Given the description of an element on the screen output the (x, y) to click on. 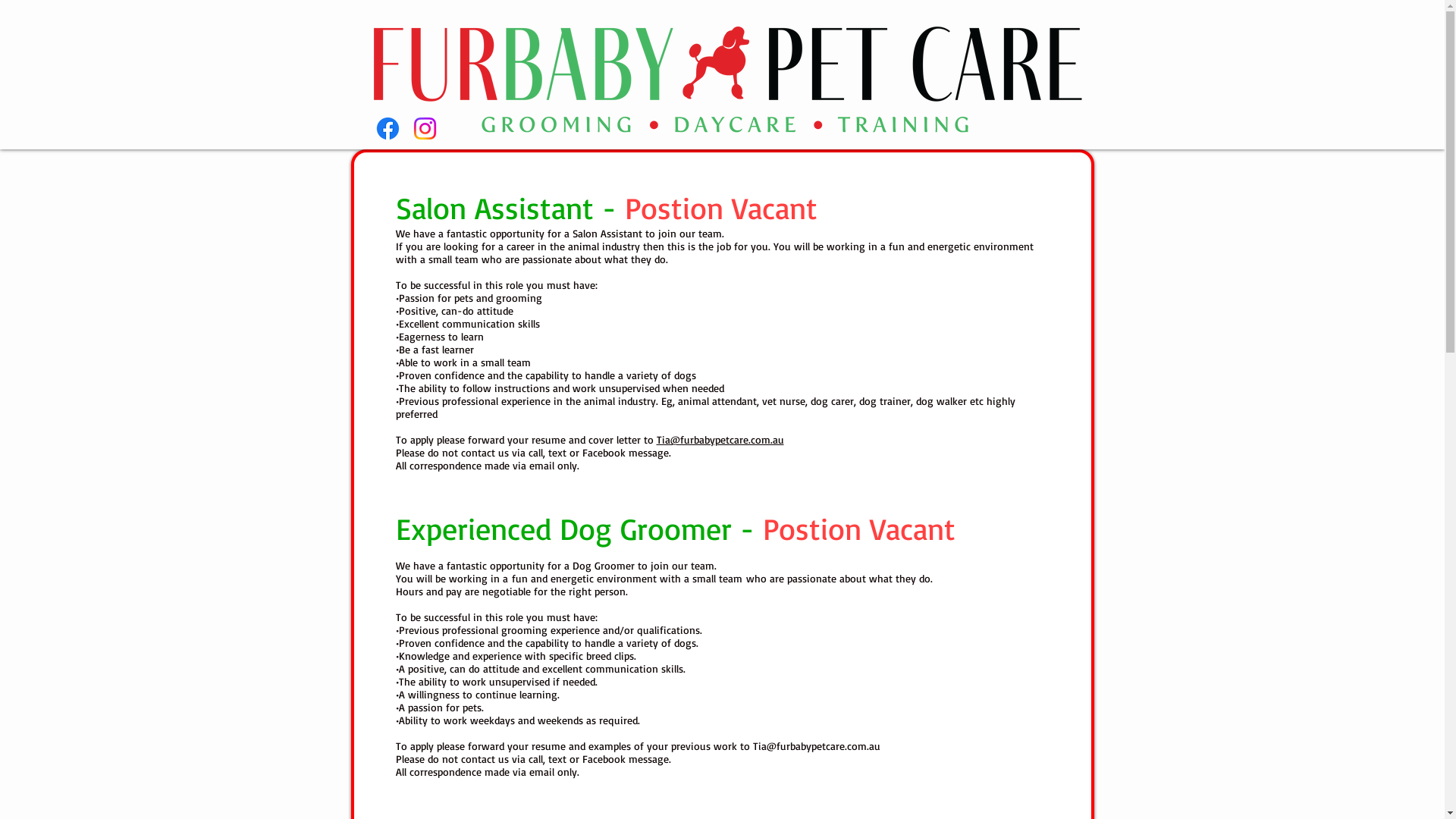
Tia@furbabypetcare.com.au Element type: text (720, 439)
@furbabypetcare.com.au Element type: text (822, 745)
